Given the description of an element on the screen output the (x, y) to click on. 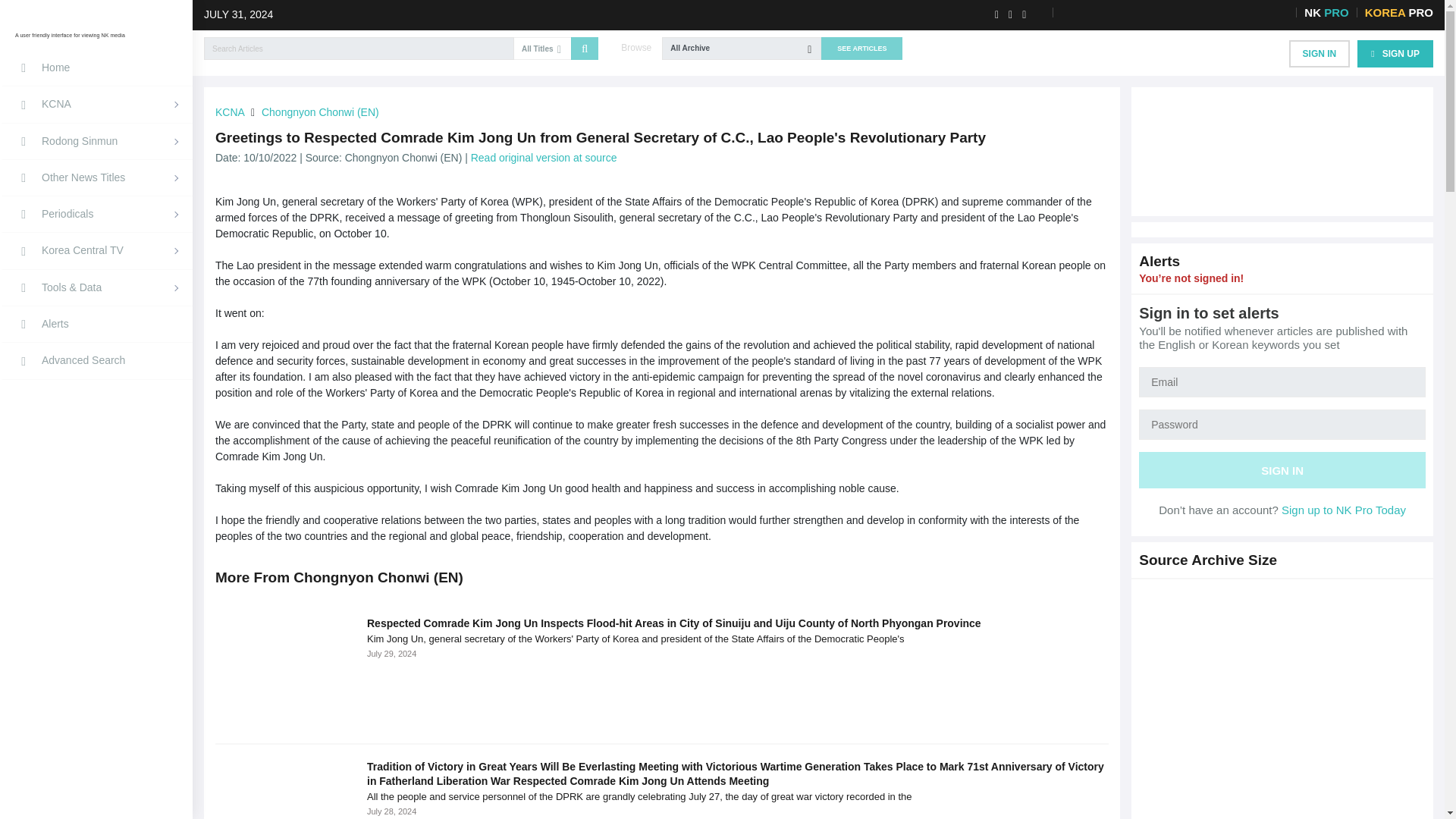
Home (96, 67)
KCNA (96, 104)
KOREA PRO (1398, 12)
Mastodon (958, 14)
NK PRO (1326, 12)
Rodong Sinmun (96, 141)
A user friendly interface for viewing NK media (128, 26)
Other News Titles (96, 177)
